Given the description of an element on the screen output the (x, y) to click on. 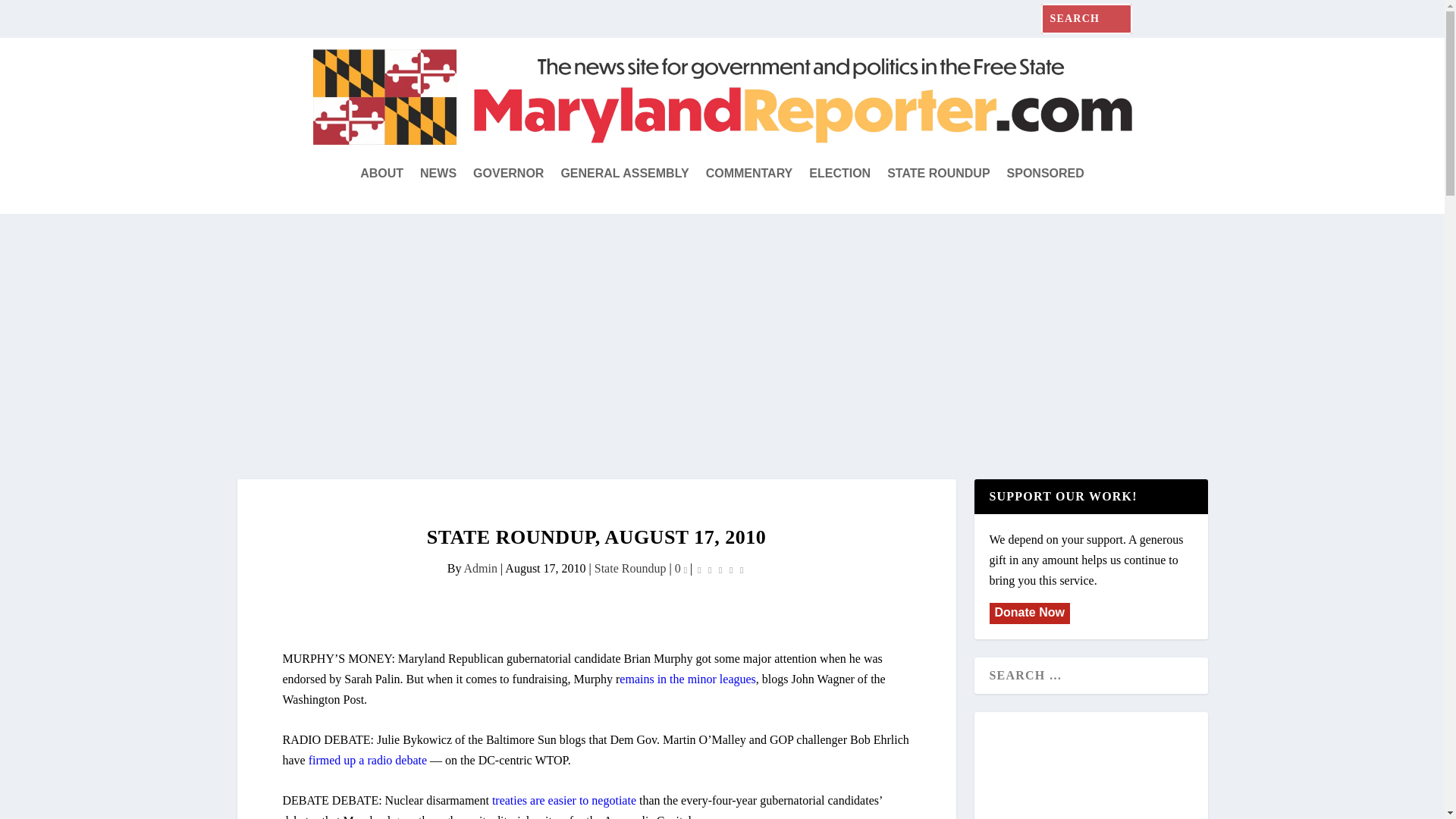
GENERAL ASSEMBLY (624, 173)
Admin (480, 567)
Posts by admin (480, 567)
COMMENTARY (749, 173)
ELECTION (839, 173)
emains in the minor leagues (687, 678)
State Roundup (630, 567)
SPONSORED (1045, 173)
STATE ROUNDUP (938, 173)
0 (681, 567)
